Given the description of an element on the screen output the (x, y) to click on. 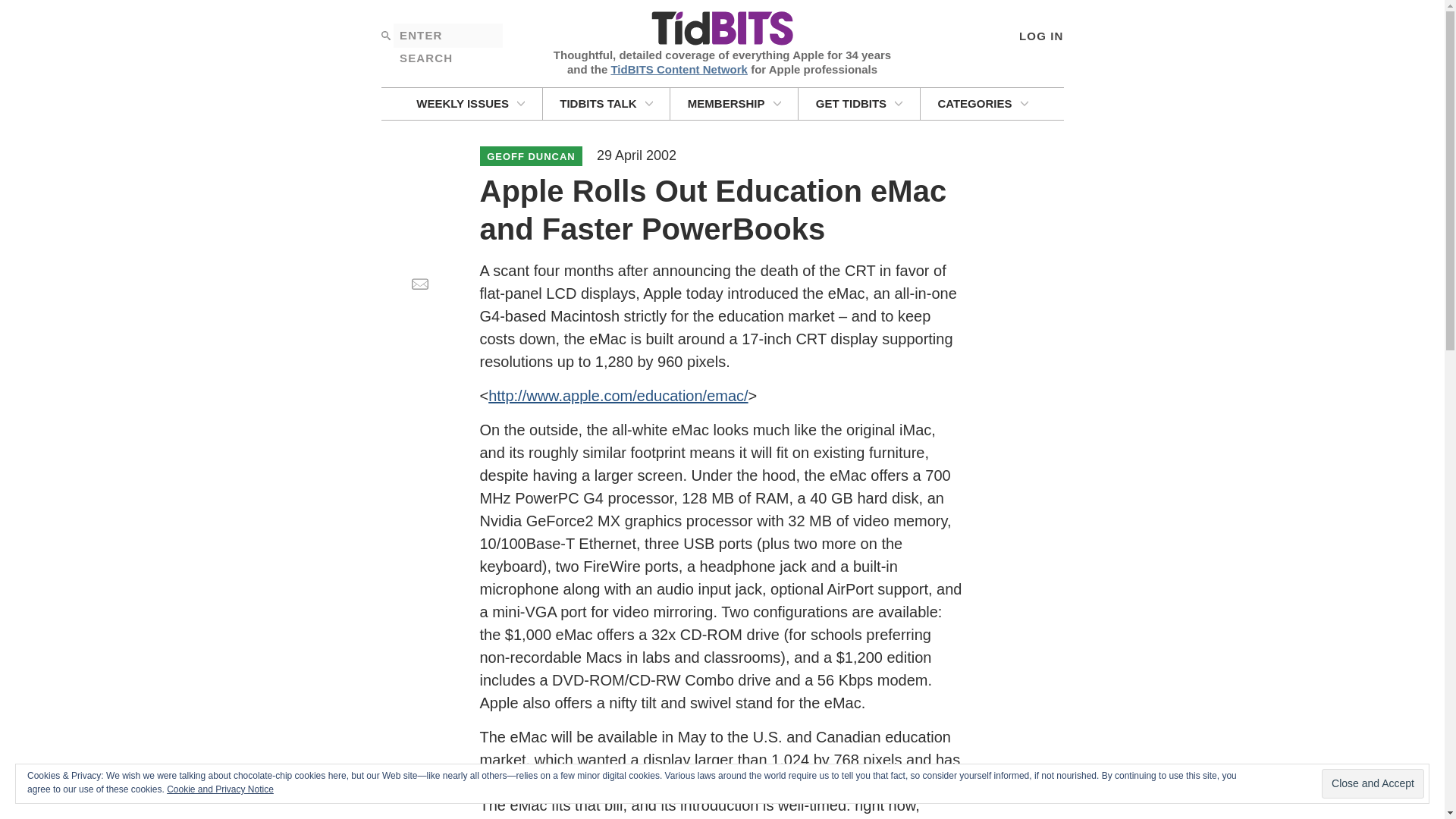
Click to email a link to a friend (419, 284)
CATEGORIES (982, 103)
LOG IN (1040, 34)
TIDBITS TALK (606, 103)
WEEKLY ISSUES (469, 103)
Search (385, 35)
MEMBERSHIP (733, 103)
TidBITS (721, 28)
GET TIDBITS (858, 103)
TidBITS Content Network (679, 68)
Close and Accept (1372, 783)
